Given the description of an element on the screen output the (x, y) to click on. 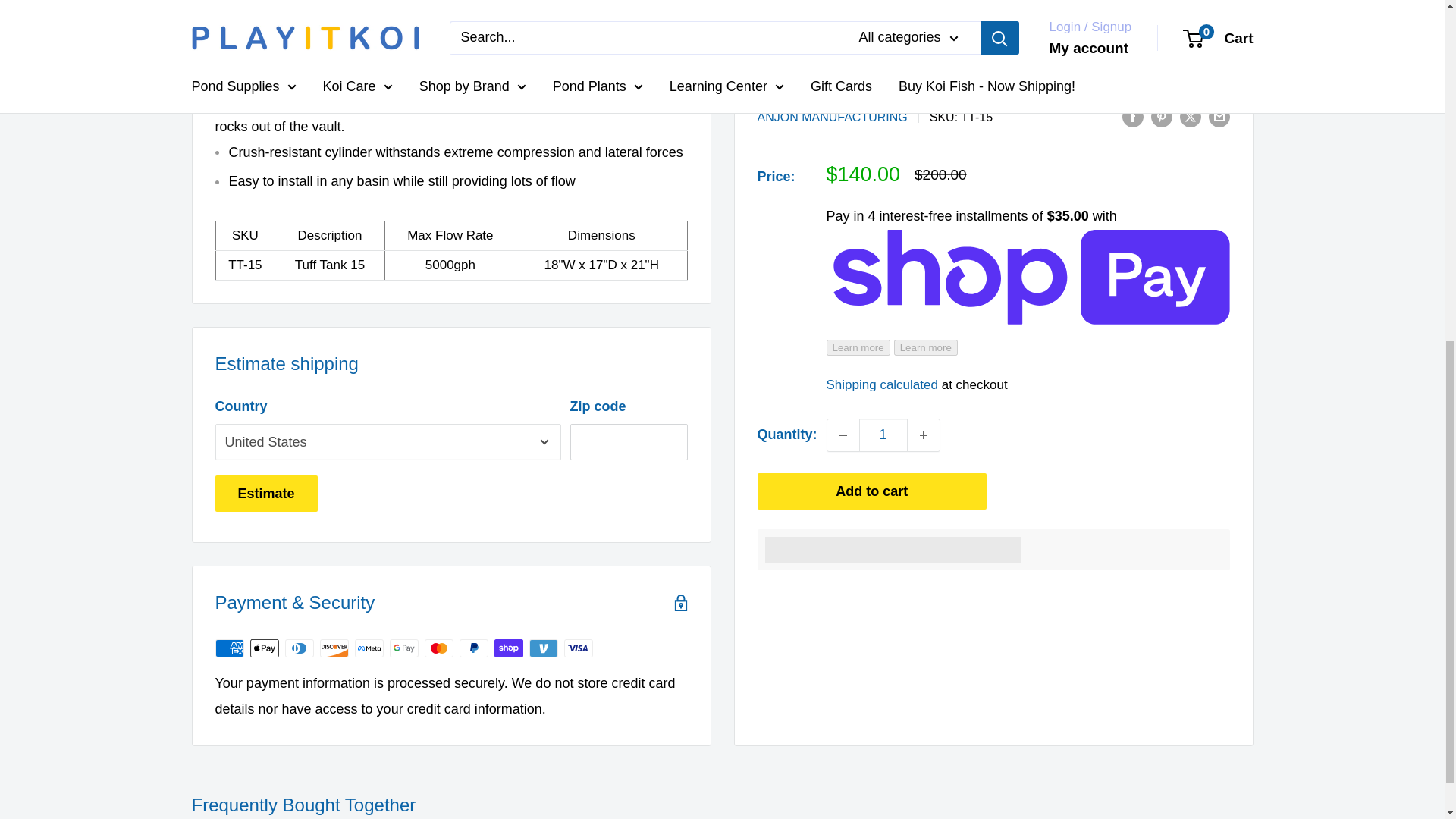
1 (883, 45)
Increase quantity by 1 (923, 45)
Decrease quantity by 1 (843, 45)
